Given the description of an element on the screen output the (x, y) to click on. 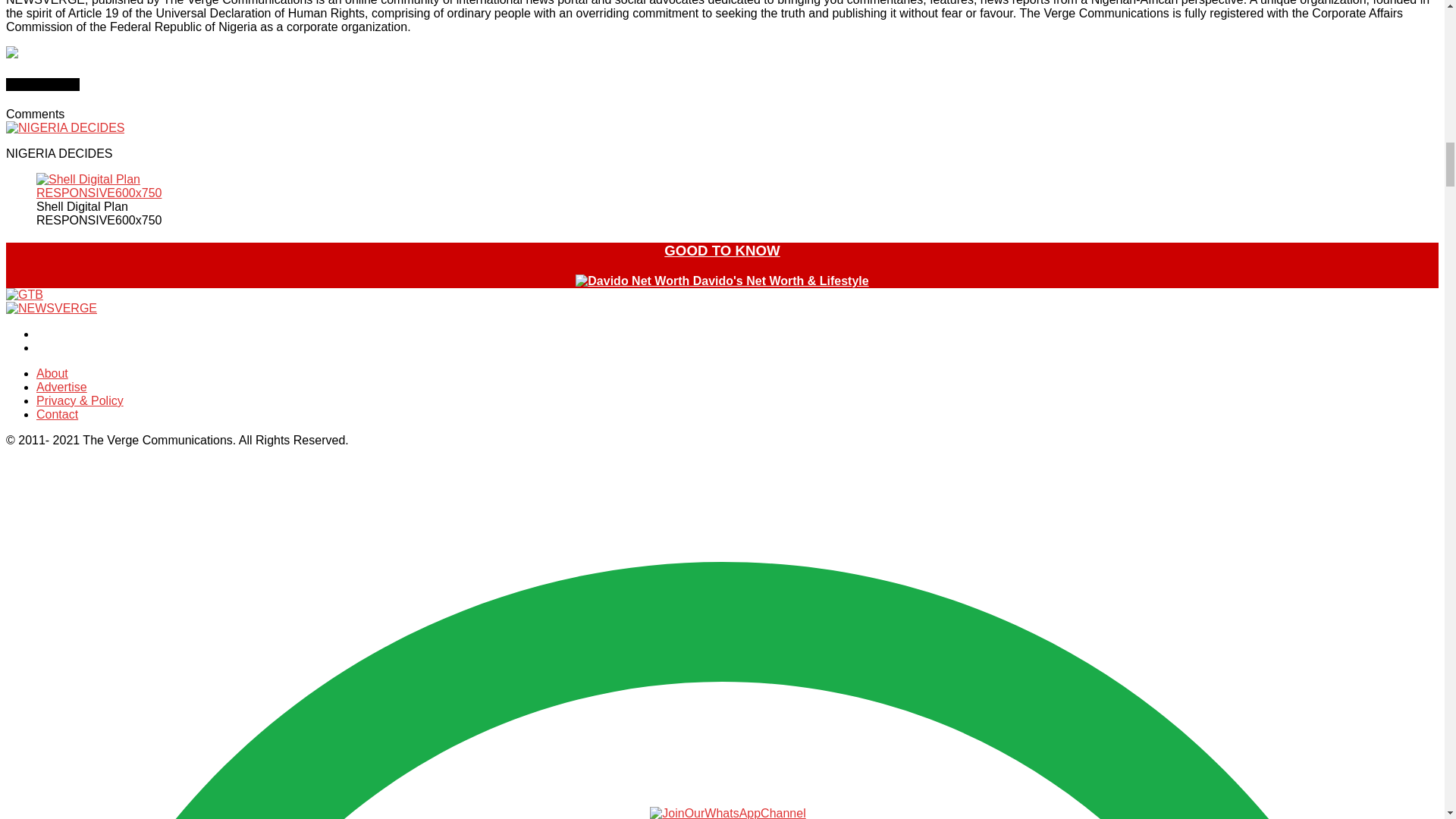
Davido Net Worth (631, 281)
